Given the description of an element on the screen output the (x, y) to click on. 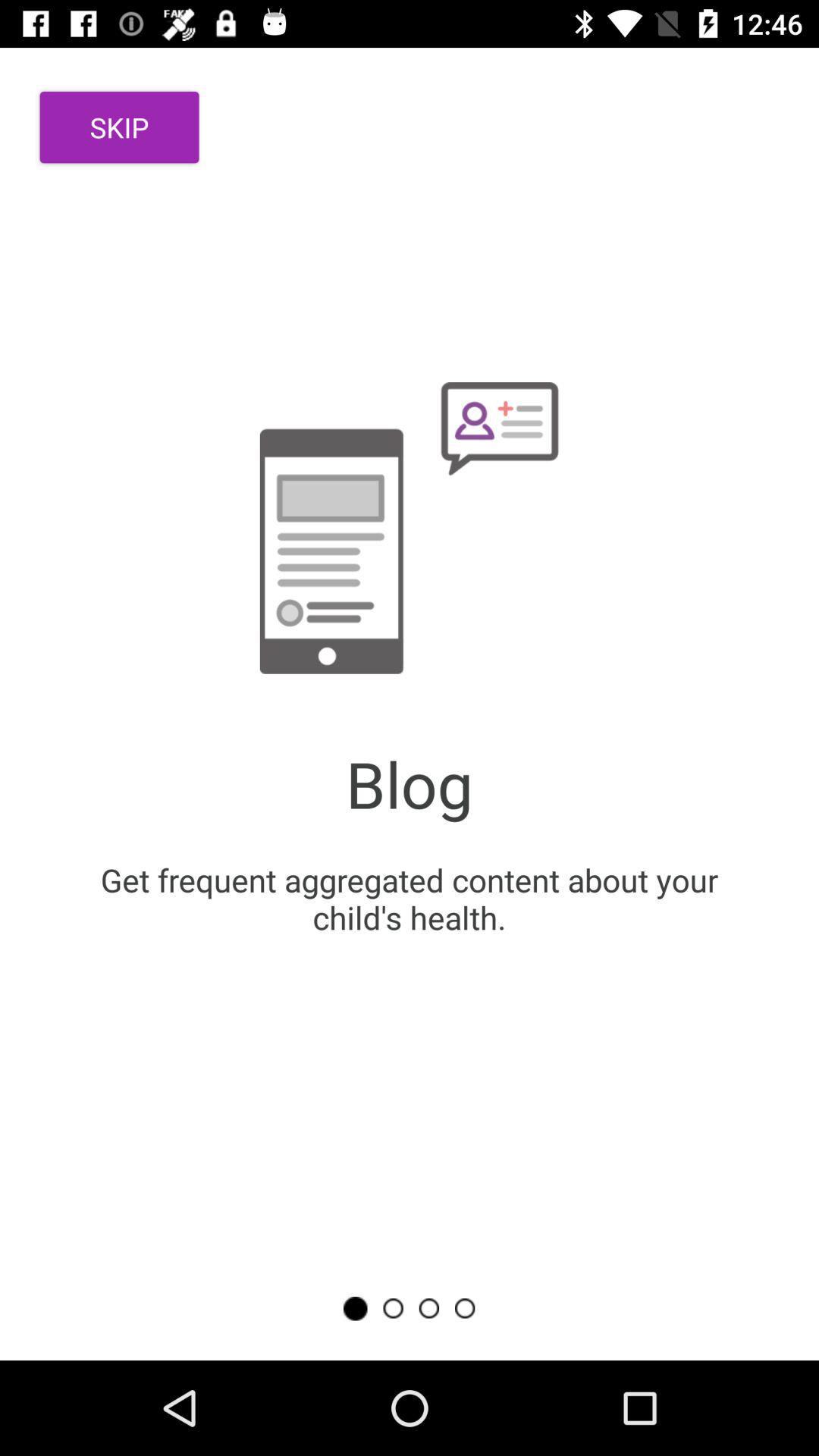
click item at the top left corner (119, 127)
